Given the description of an element on the screen output the (x, y) to click on. 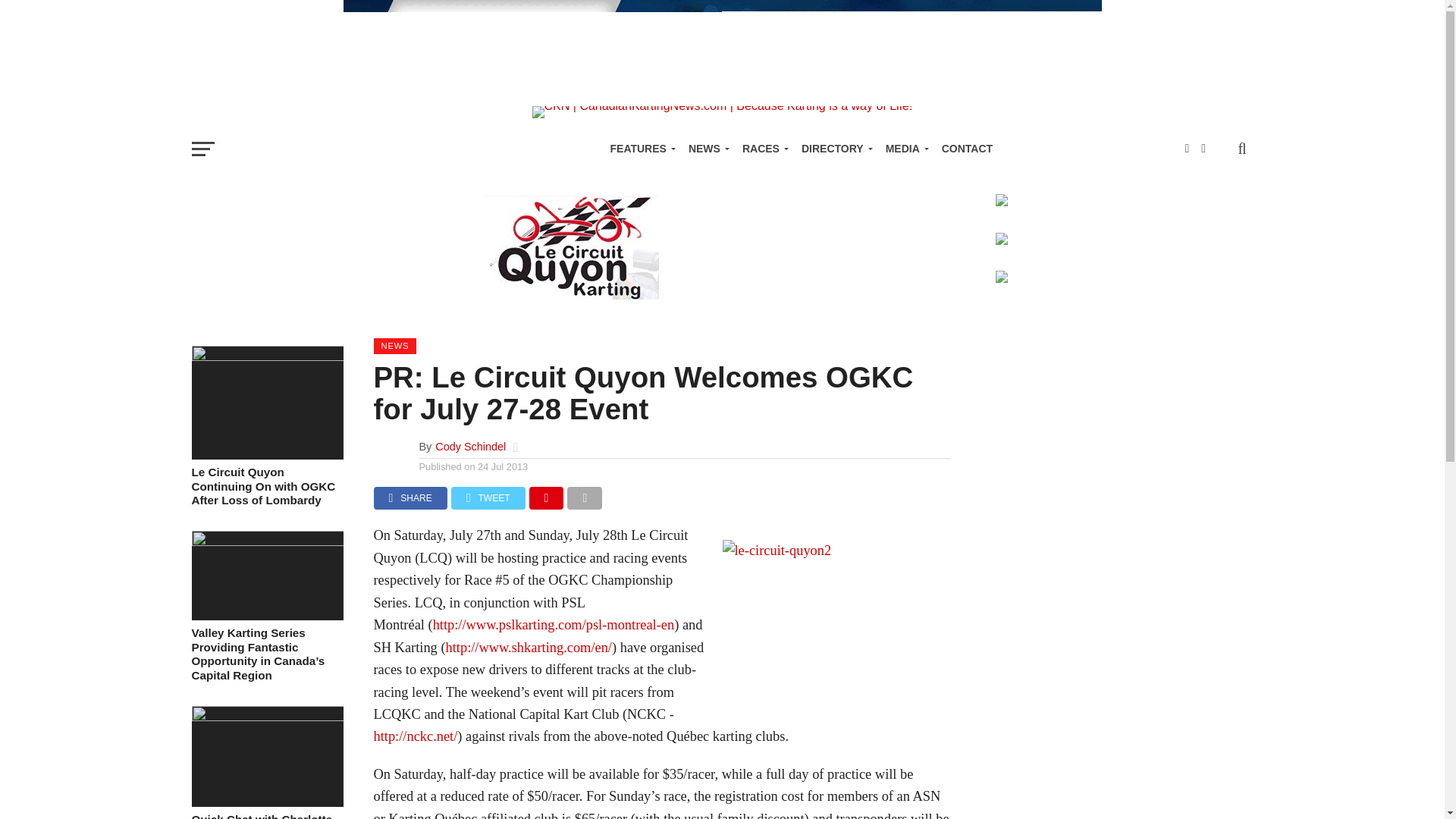
Posts by Cody Schindel (470, 446)
Premier Karting (721, 86)
NEWS (706, 148)
FEATURES (638, 148)
